Given the description of an element on the screen output the (x, y) to click on. 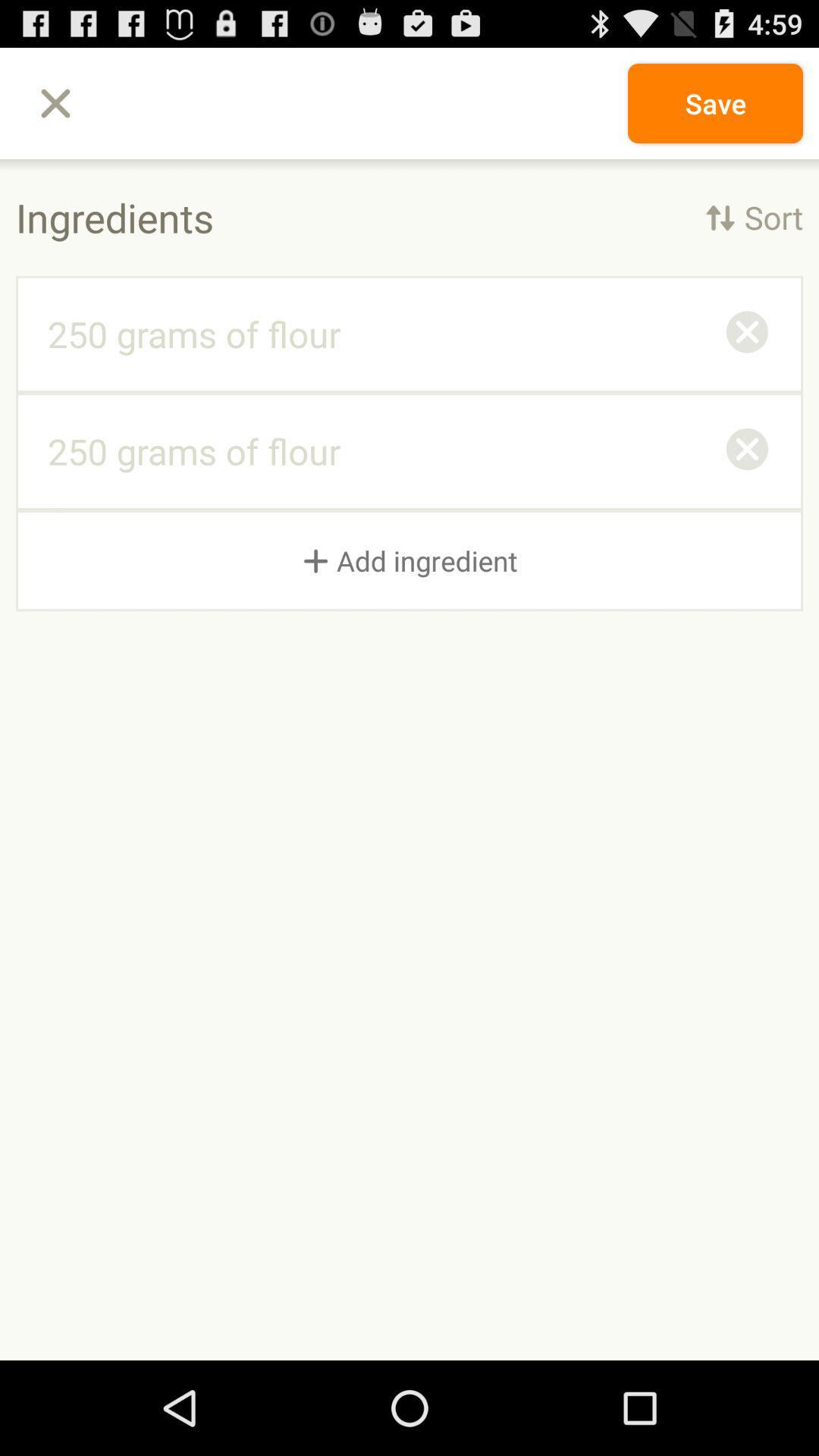
click the item below ingredients item (747, 334)
